Given the description of an element on the screen output the (x, y) to click on. 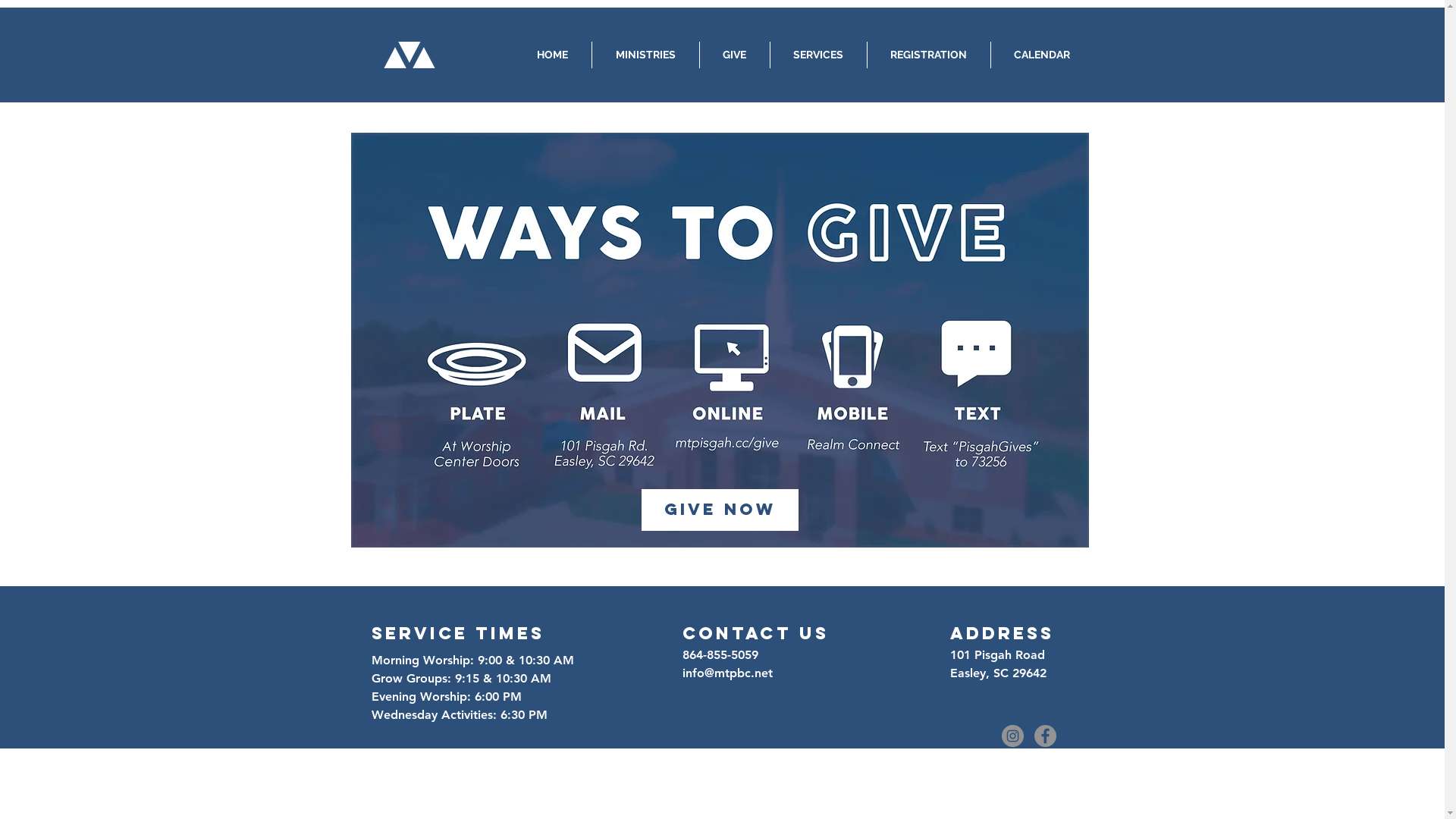
SERVICES Element type: text (818, 54)
Give Now Element type: text (719, 509)
CALENDAR Element type: text (1041, 54)
HOME Element type: text (551, 54)
info@mtpbc.net Element type: text (727, 672)
GIVE Element type: text (733, 54)
